Given the description of an element on the screen output the (x, y) to click on. 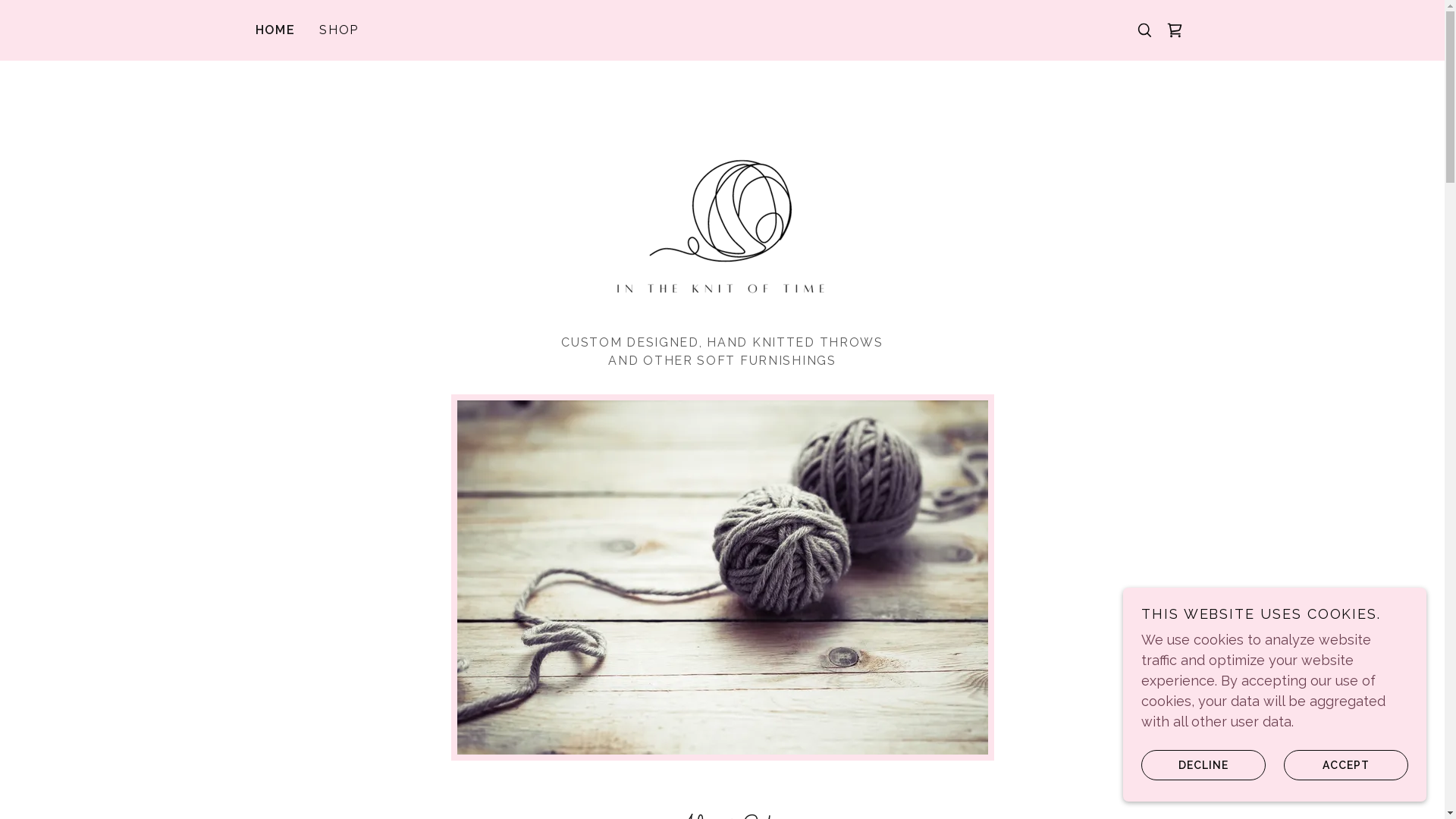
SHOP Element type: text (338, 29)
ACCEPT Element type: text (1345, 764)
HOME Element type: text (274, 30)
In the Knit of Time Element type: hover (721, 205)
DECLINE Element type: text (1203, 764)
